Given the description of an element on the screen output the (x, y) to click on. 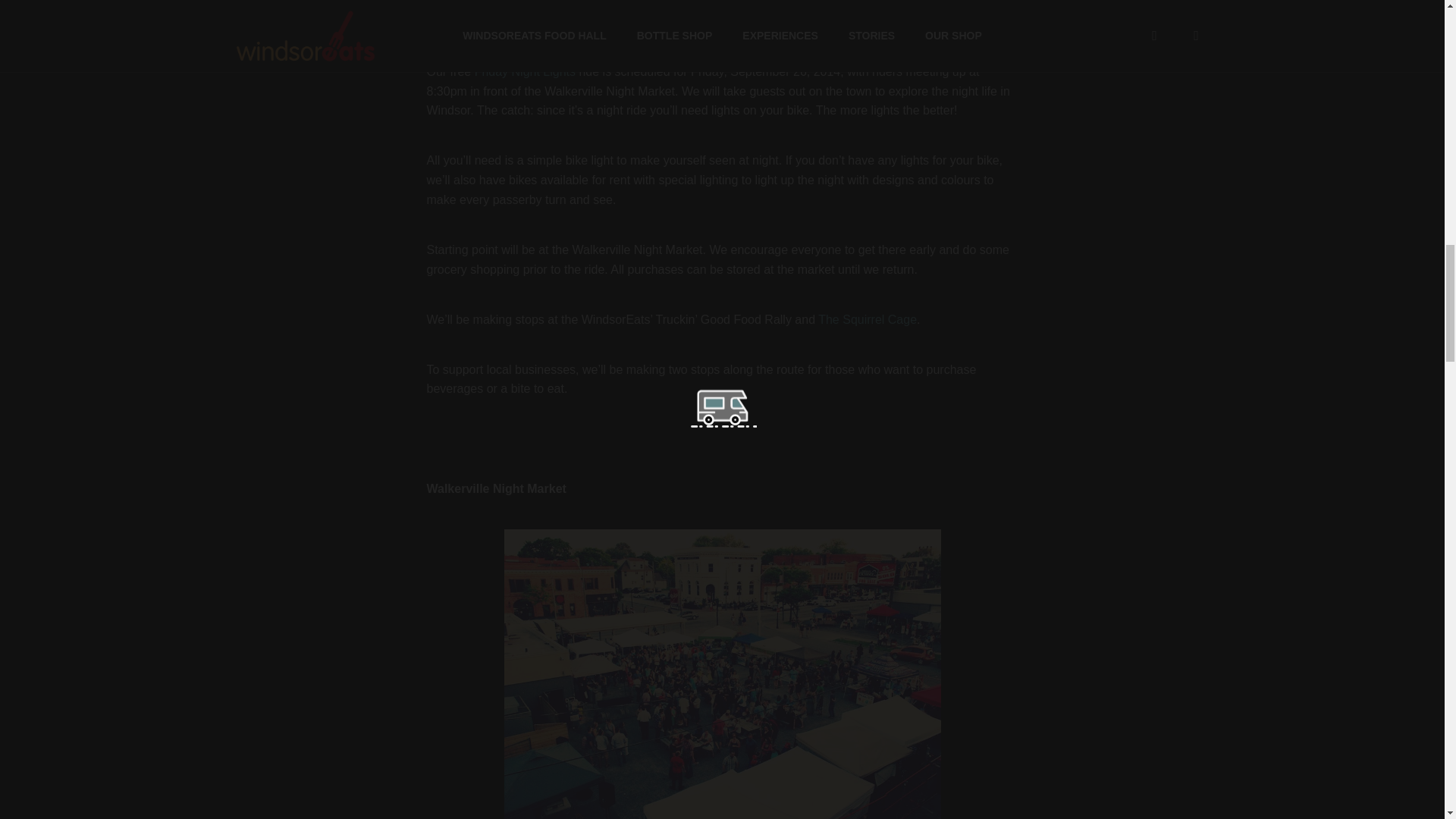
Friday Night Lighjts (695, 23)
The Squirrel Cage (867, 318)
Friday Night Lighjts (524, 71)
